Given the description of an element on the screen output the (x, y) to click on. 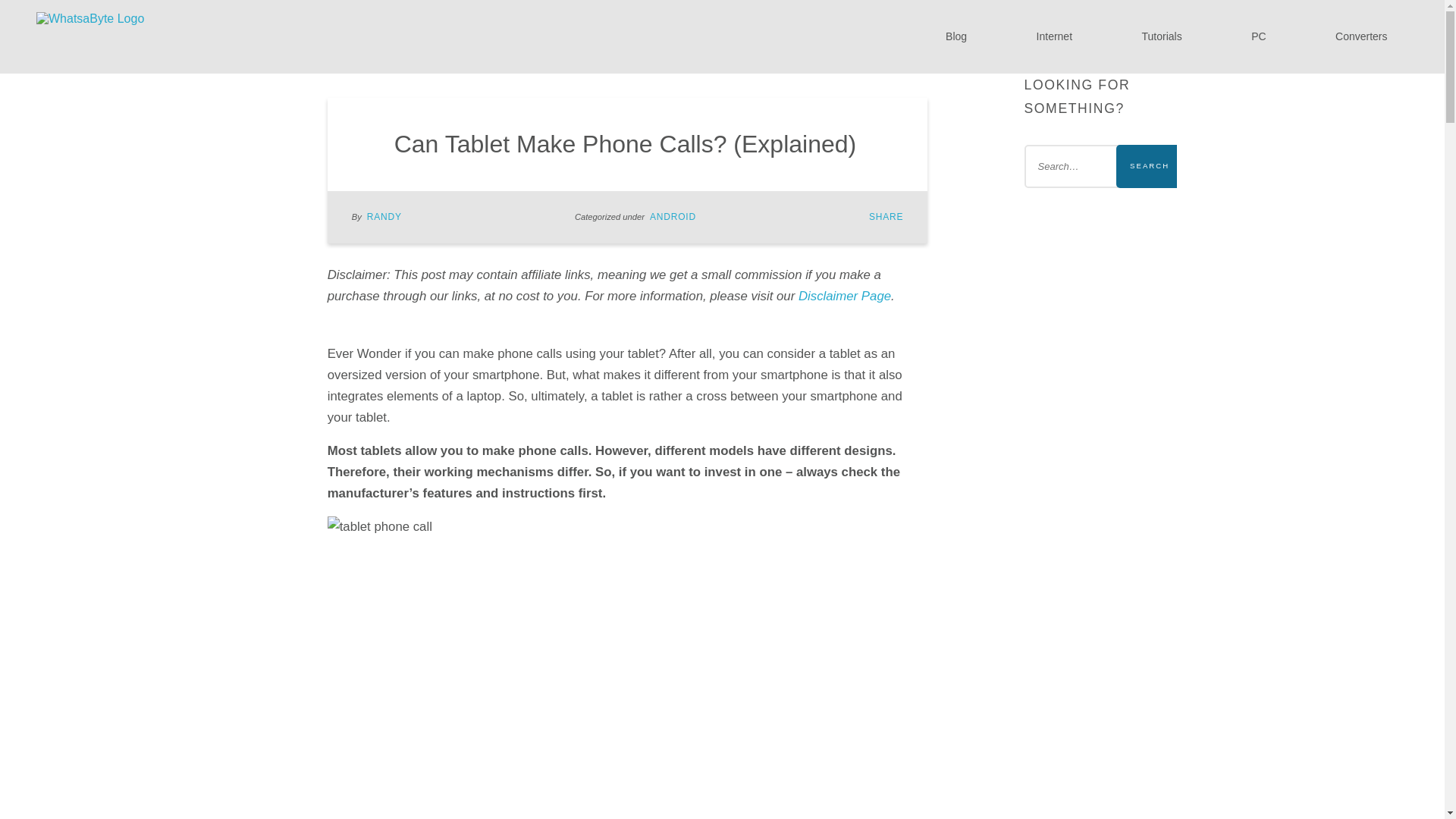
Blog (956, 36)
PC (1258, 36)
Converters (1361, 36)
Tutorials (1161, 36)
Search (1149, 166)
Search (1149, 166)
Search for: (1099, 166)
Internet (1053, 36)
SHARE (885, 216)
Disclaimer Page (844, 296)
